Given the description of an element on the screen output the (x, y) to click on. 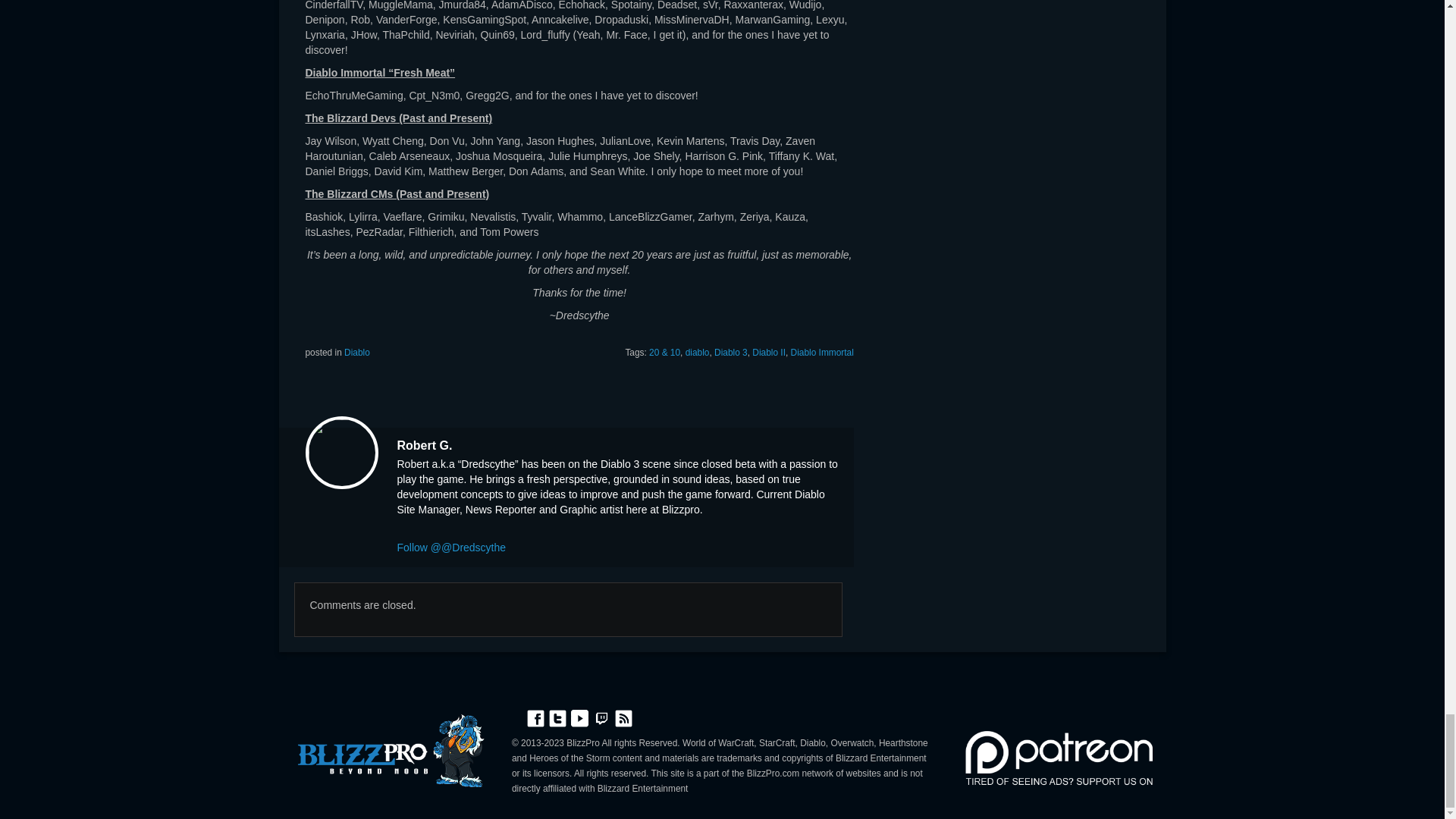
RSS (623, 717)
Diablo (356, 352)
Diablo Immortal (821, 352)
diablo (697, 352)
Youtube (579, 717)
Facebook (534, 717)
Diablo 3 (731, 352)
Twitch (601, 717)
Twitter (557, 717)
Diablo II (769, 352)
